Given the description of an element on the screen output the (x, y) to click on. 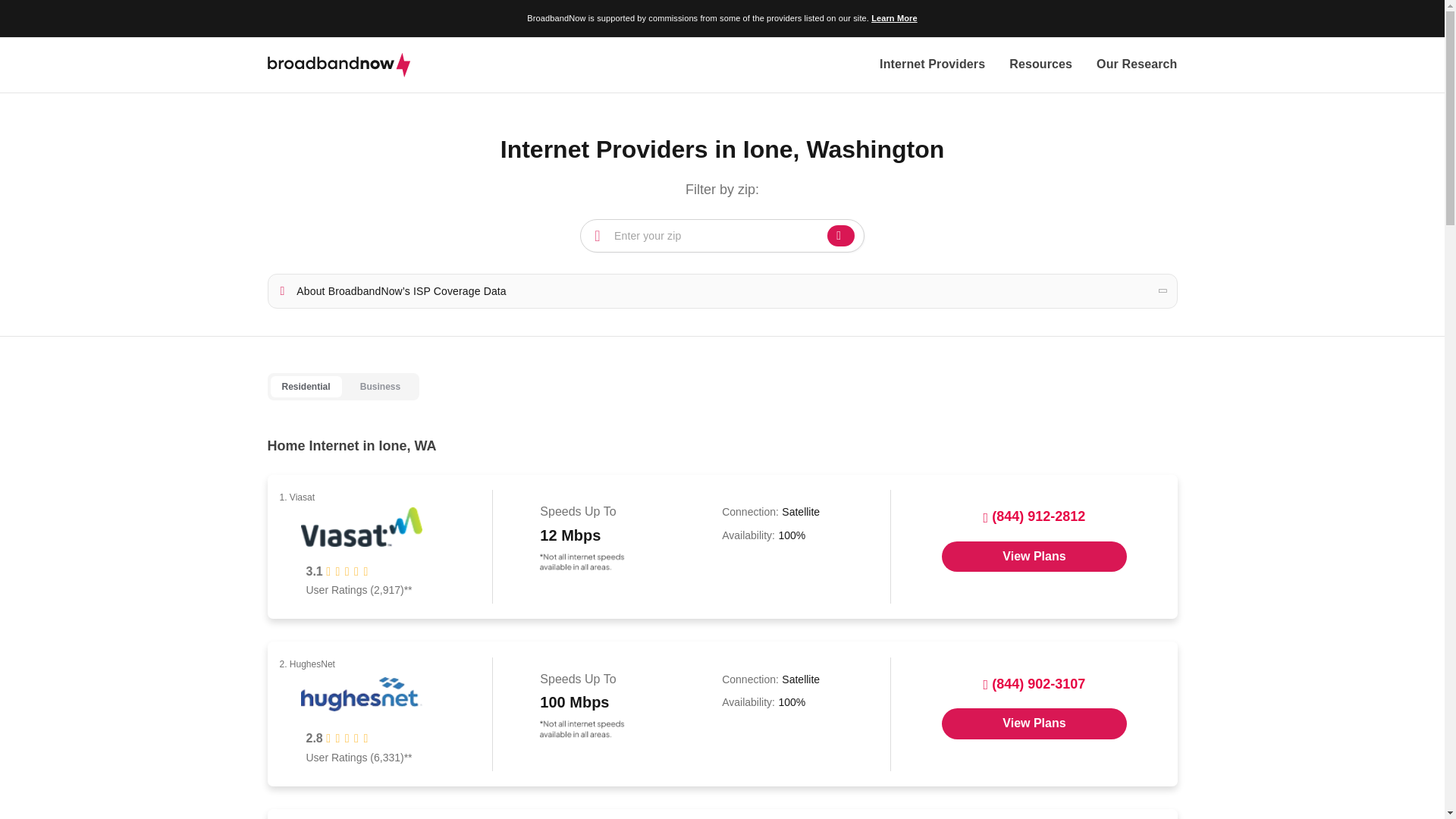
Learn More (893, 17)
Opens in a new window (1034, 723)
Business (379, 386)
Resources (1040, 64)
Opens in a new window (1034, 556)
Residential (305, 386)
Our Research (1136, 64)
Internet Providers (932, 64)
